Given the description of an element on the screen output the (x, y) to click on. 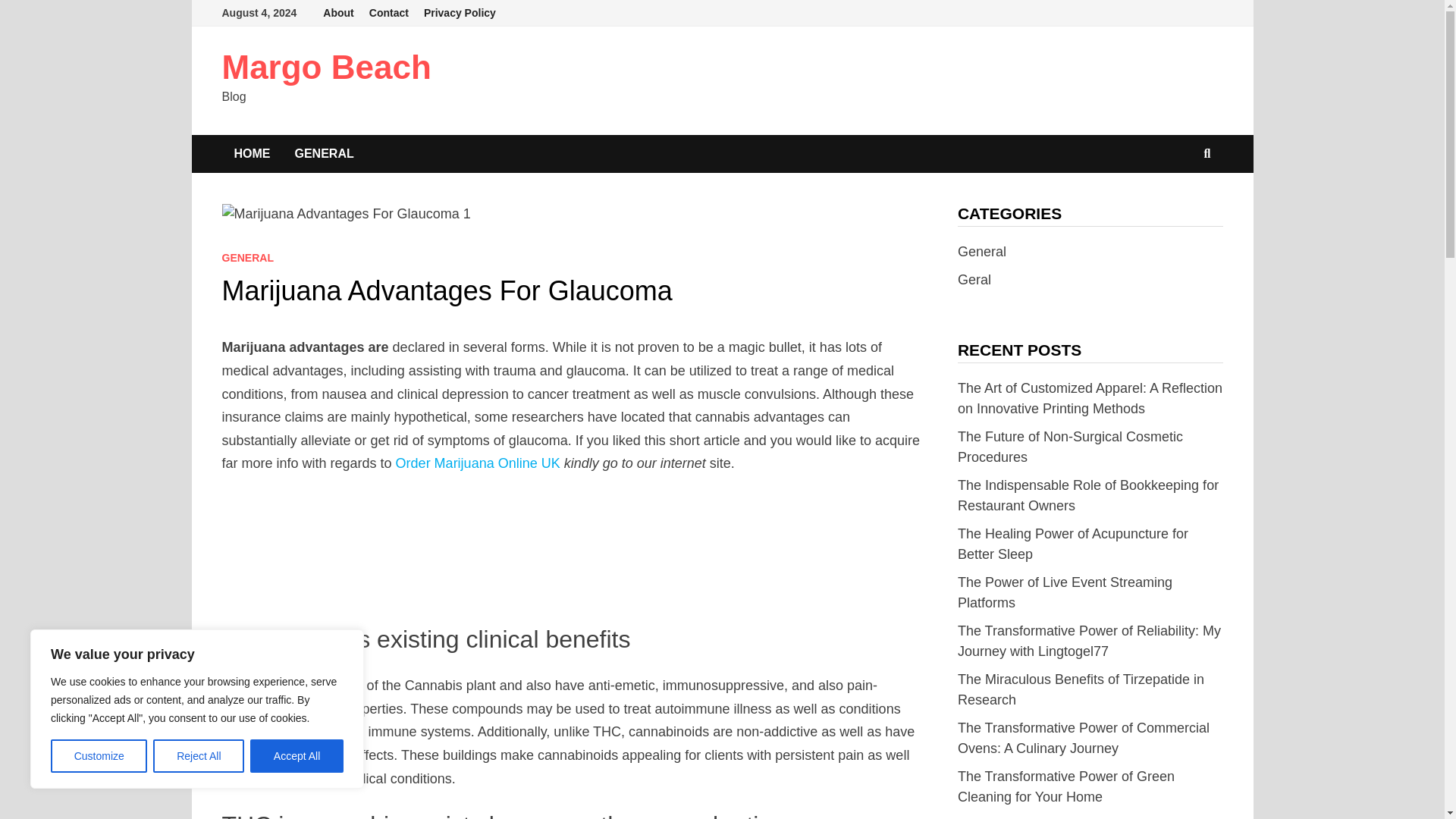
Contact (388, 13)
HOME (251, 153)
Order Marijuana Online UK (478, 462)
Accept All (296, 756)
GENERAL (247, 257)
Reject All (198, 756)
GENERAL (323, 153)
Privacy Policy (459, 13)
Margo Beach (325, 66)
Customize (98, 756)
About (338, 13)
